Given the description of an element on the screen output the (x, y) to click on. 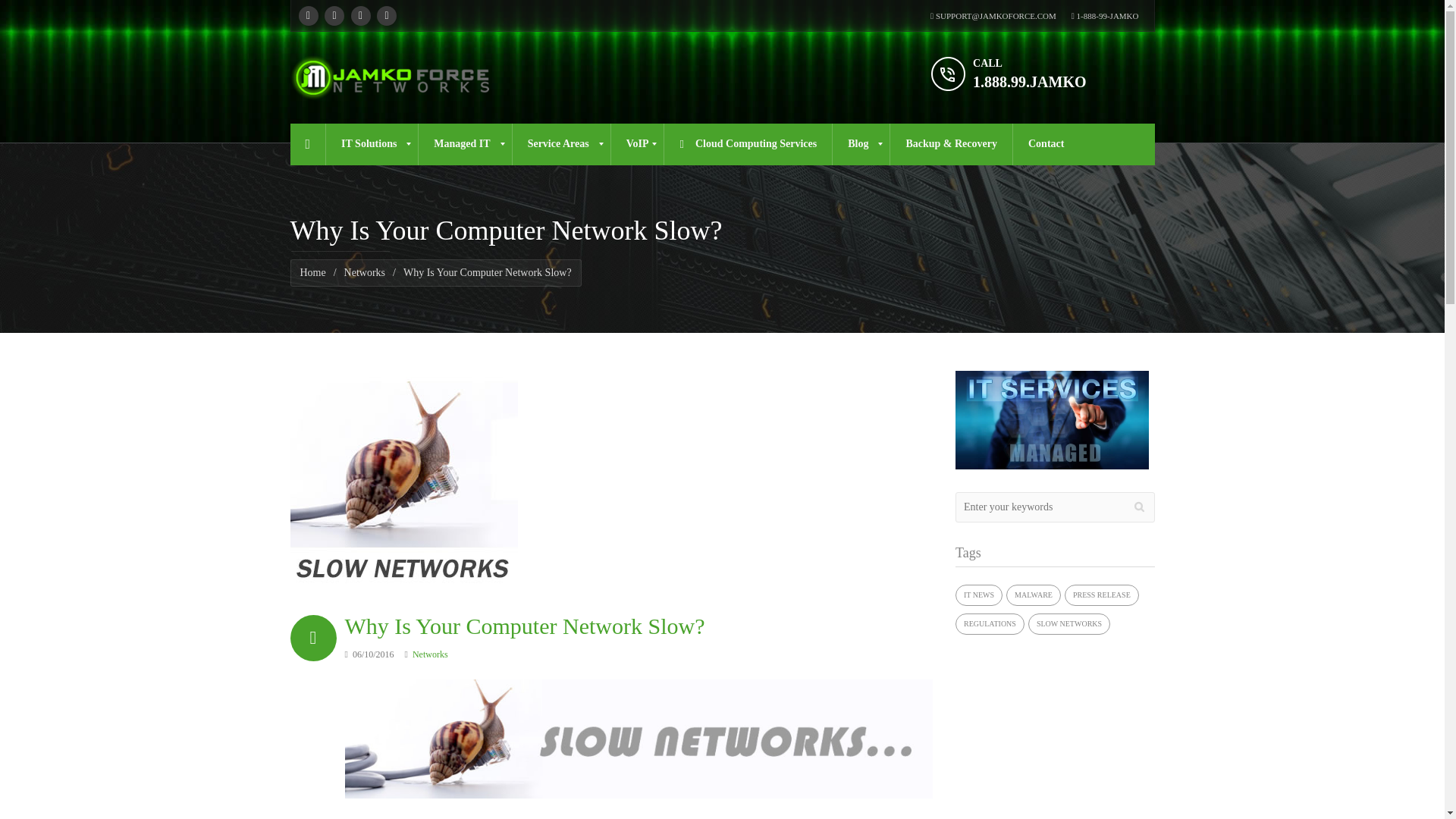
Service Areas (561, 144)
Email (386, 15)
Blog (860, 144)
Twitter (333, 15)
Managed IT (464, 144)
Facebook (308, 15)
VoIP (636, 144)
Search for: (1054, 507)
1.888.99.JAMKO (1029, 81)
LinkedIn (359, 15)
